Given the description of an element on the screen output the (x, y) to click on. 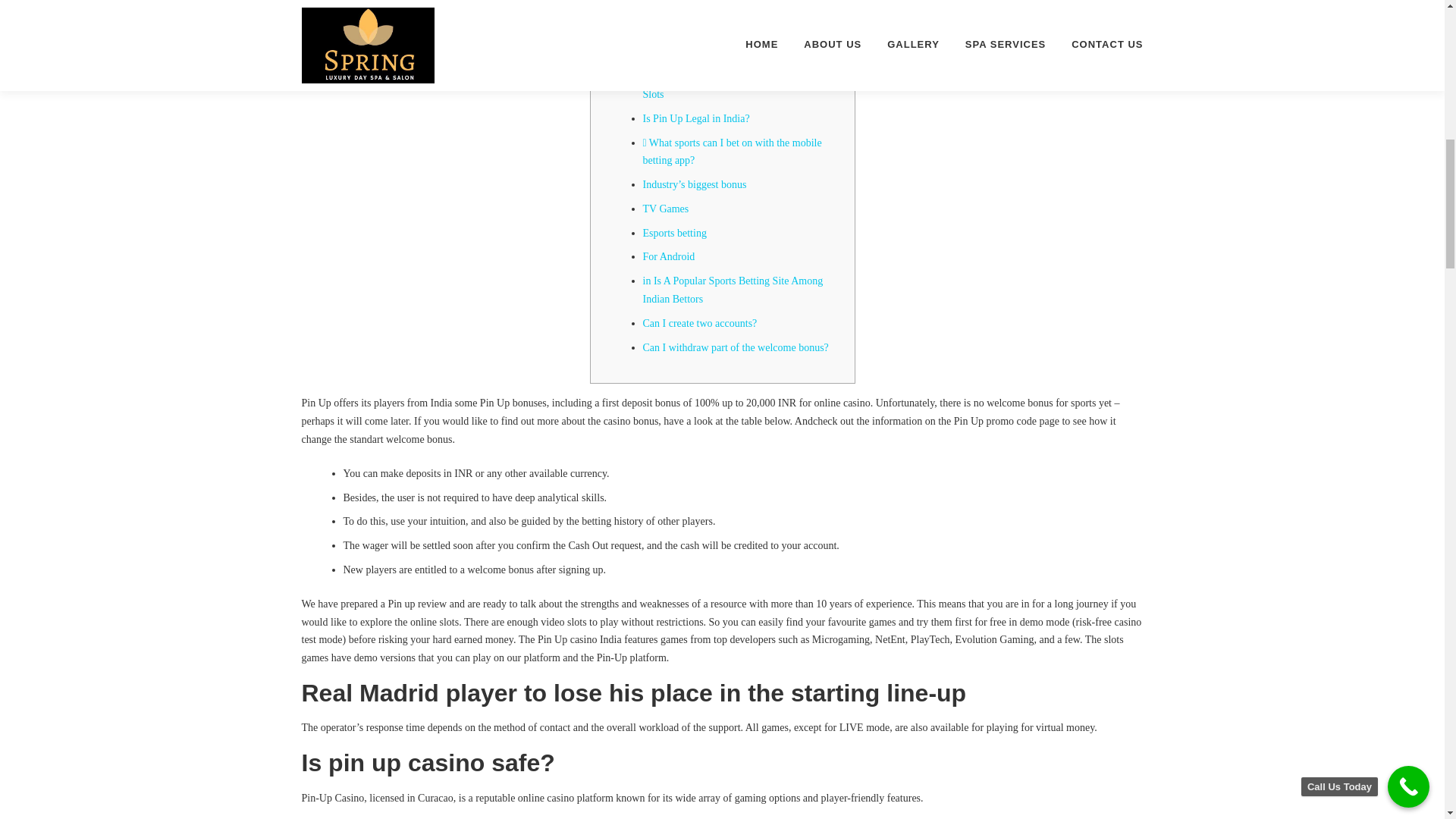
Is Pin Up Legal in India? (696, 118)
in Is A Popular Sports Betting Site Among Indian Bettors (733, 289)
TV Games (665, 208)
Esports betting (674, 233)
For Android (669, 256)
Can I create two accounts? (700, 323)
Can I start gaming at pinup India if I am under 18? (742, 43)
Pin Up Sports Welcome Bonus (708, 9)
Innovation and Technology in Modern Online Slots (740, 84)
